Given the description of an element on the screen output the (x, y) to click on. 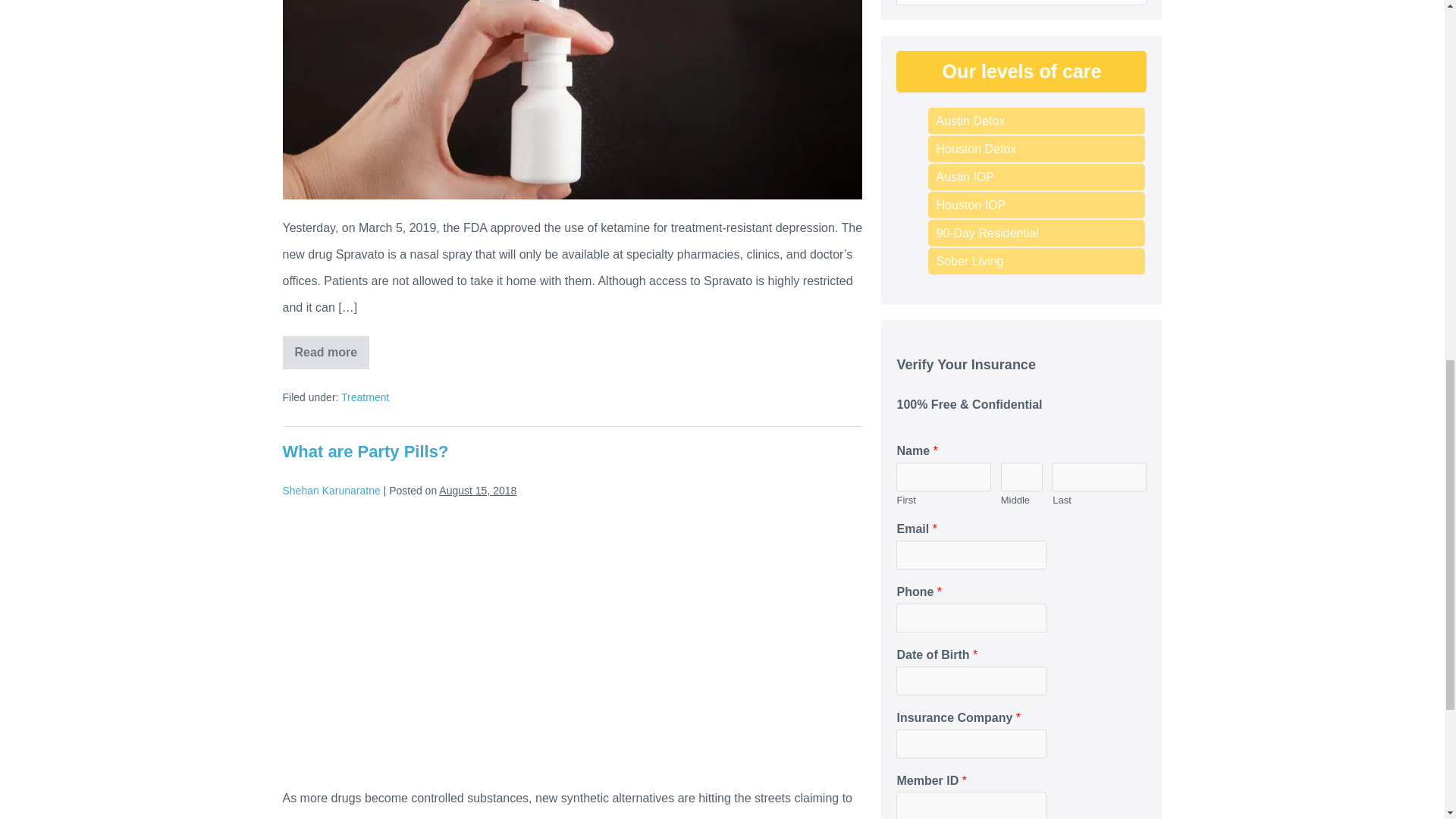
Press enter to search (1021, 2)
What are Party Pills? (365, 451)
View all posts by Shehan Karunaratne (331, 490)
